Given the description of an element on the screen output the (x, y) to click on. 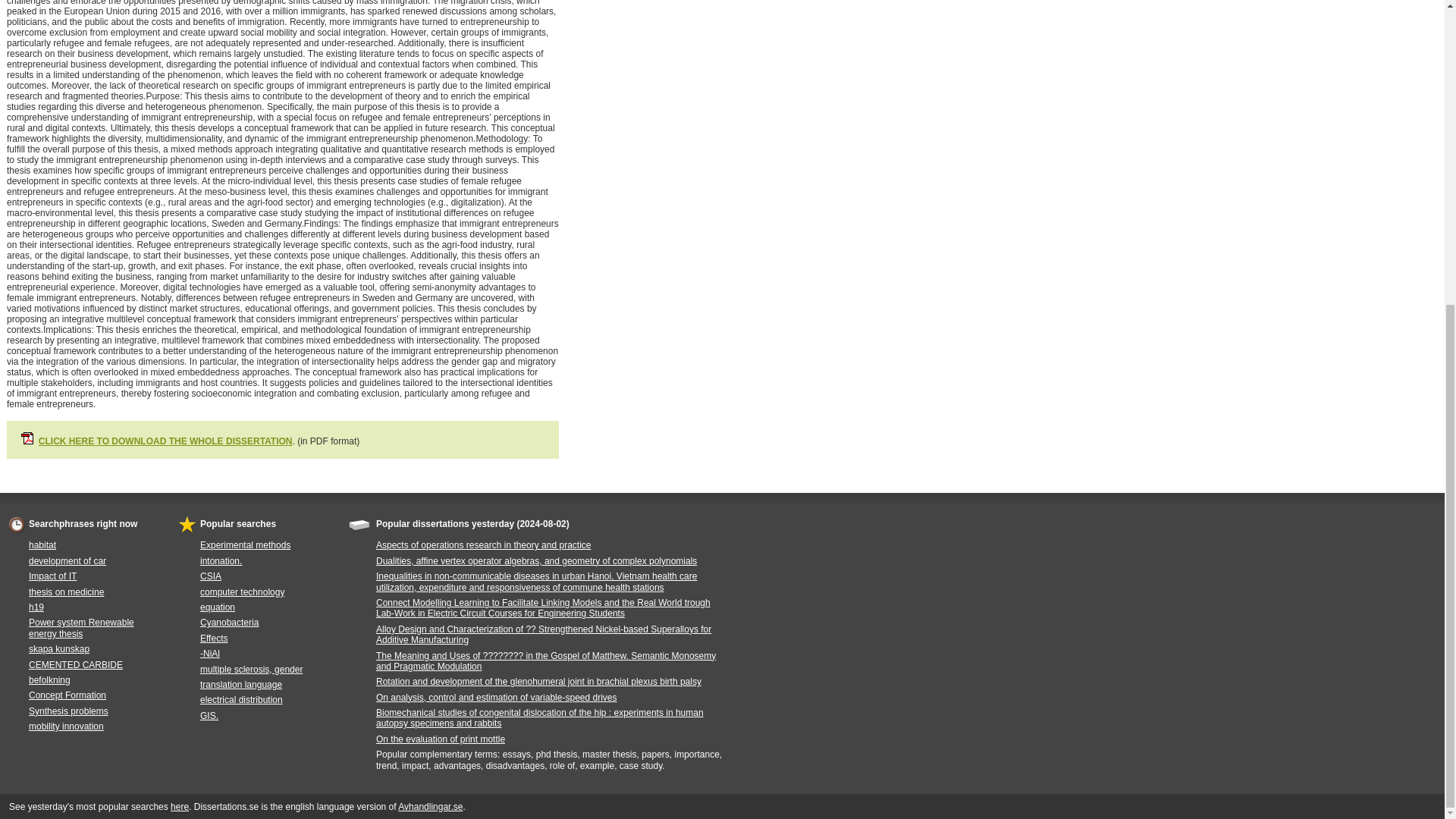
CLICK HERE TO DOWNLOAD THE WHOLE DISSERTATION (165, 440)
CSIA (210, 575)
Concept Formation (67, 695)
mobility innovation (66, 726)
CEMENTED CARBIDE (75, 664)
thesis on medicine (66, 592)
Synthesis problems (68, 710)
computer technology (241, 592)
habitat (42, 544)
Impact of IT (53, 575)
befolkning (49, 679)
equation (217, 606)
h19 (36, 606)
Power system Renewable energy thesis (81, 627)
Experimental methods (244, 544)
